Given the description of an element on the screen output the (x, y) to click on. 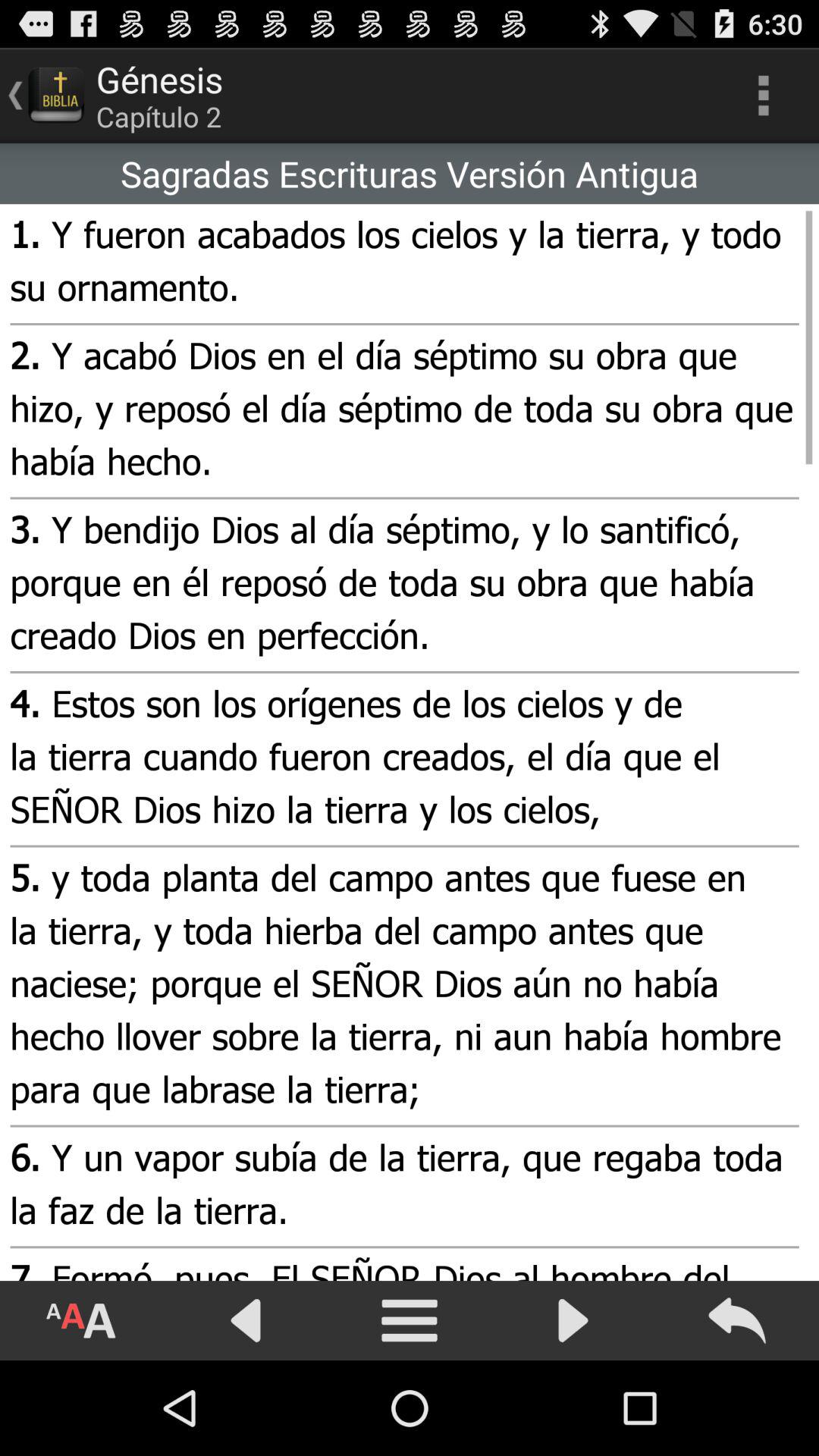
launch item above 5 y toda (402, 759)
